Given the description of an element on the screen output the (x, y) to click on. 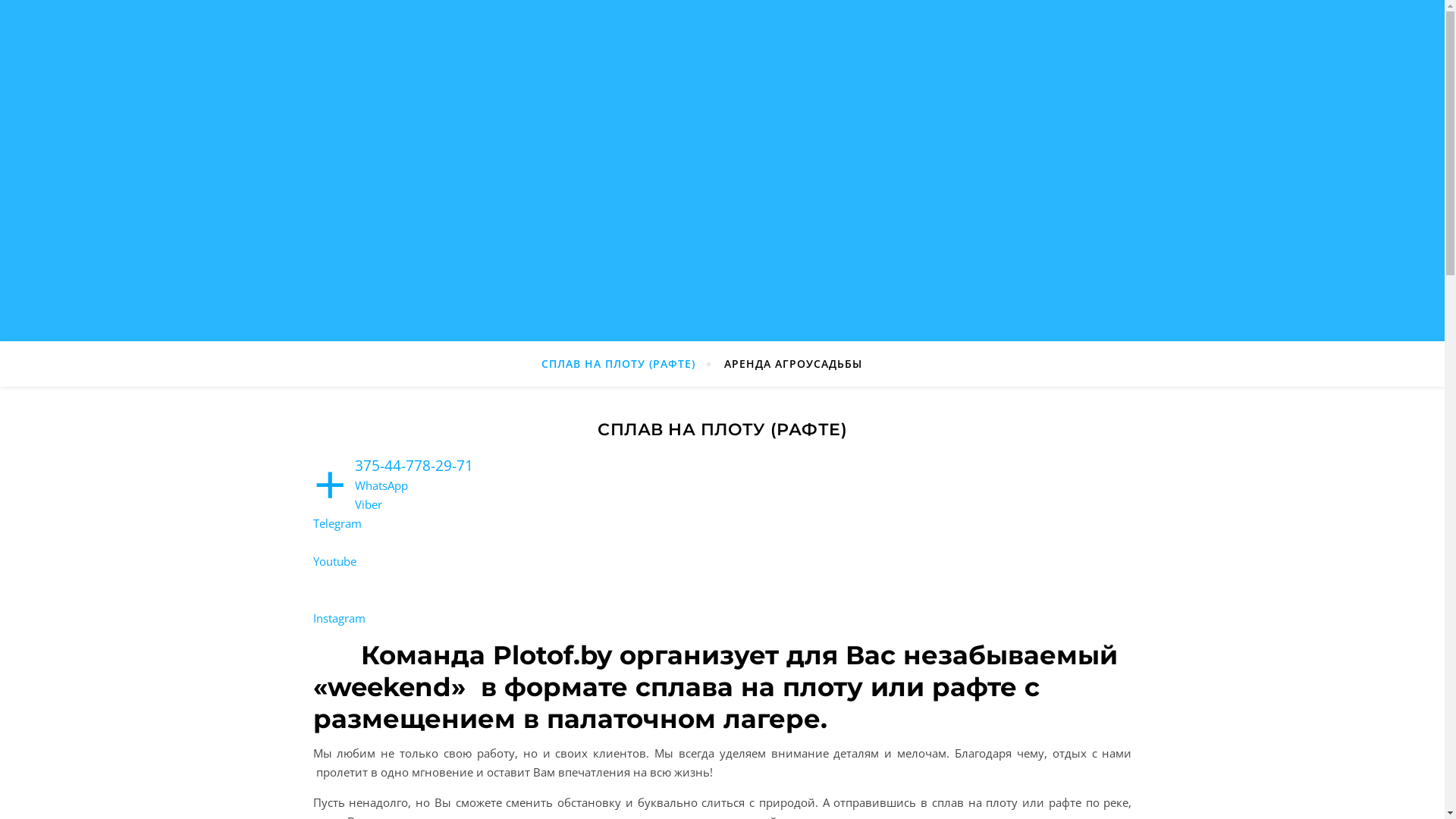
Youtube Element type: text (333, 570)
WhatsApp Element type: text (380, 484)
Viber Element type: text (368, 503)
Instagram Element type: text (338, 627)
Telegram Element type: text (336, 522)
+375-44-778-29-71 Element type: text (413, 464)
